Given the description of an element on the screen output the (x, y) to click on. 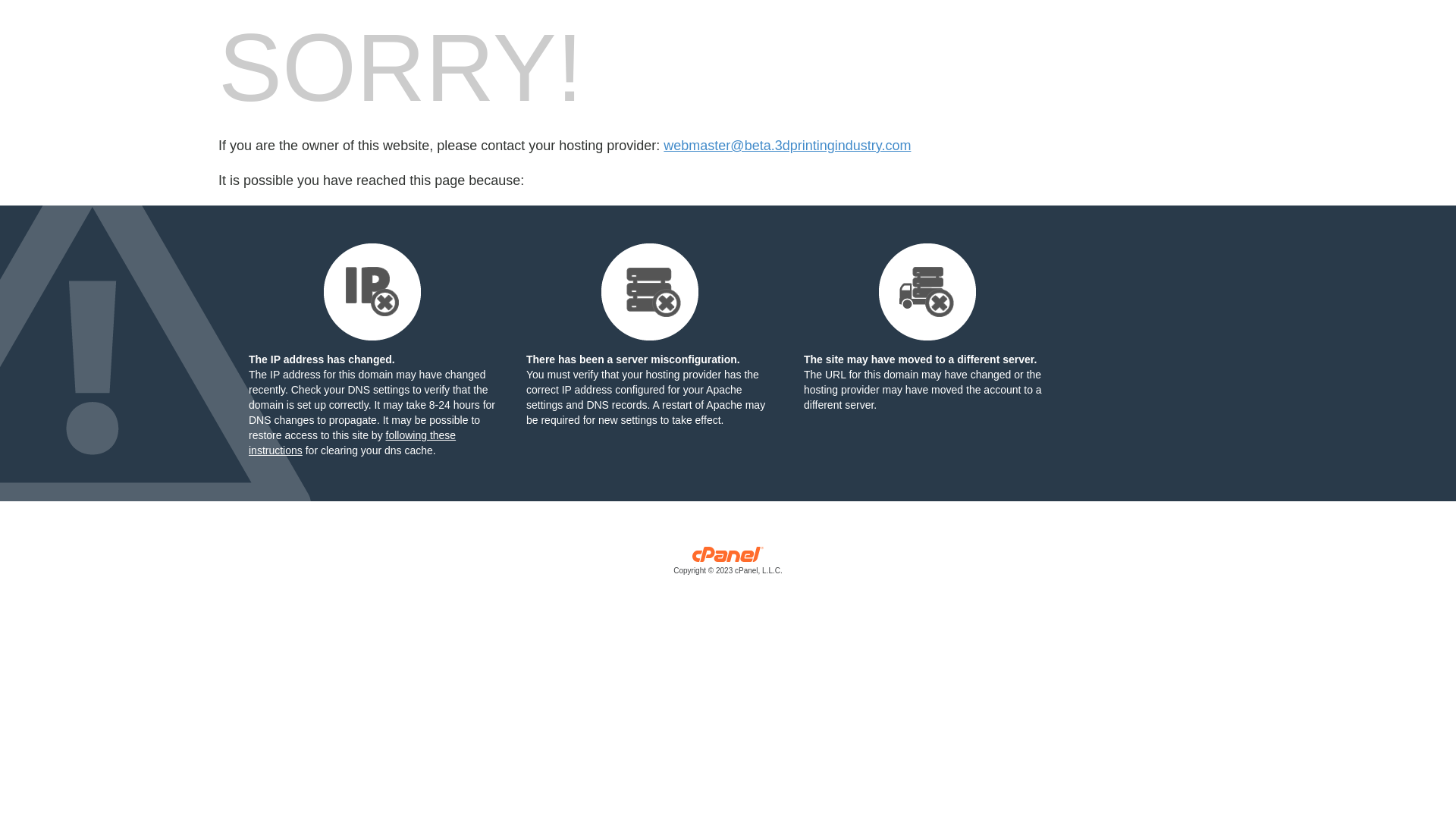
webmaster@beta.3dprintingindustry.com Element type: text (786, 145)
following these instructions Element type: text (351, 442)
